Given the description of an element on the screen output the (x, y) to click on. 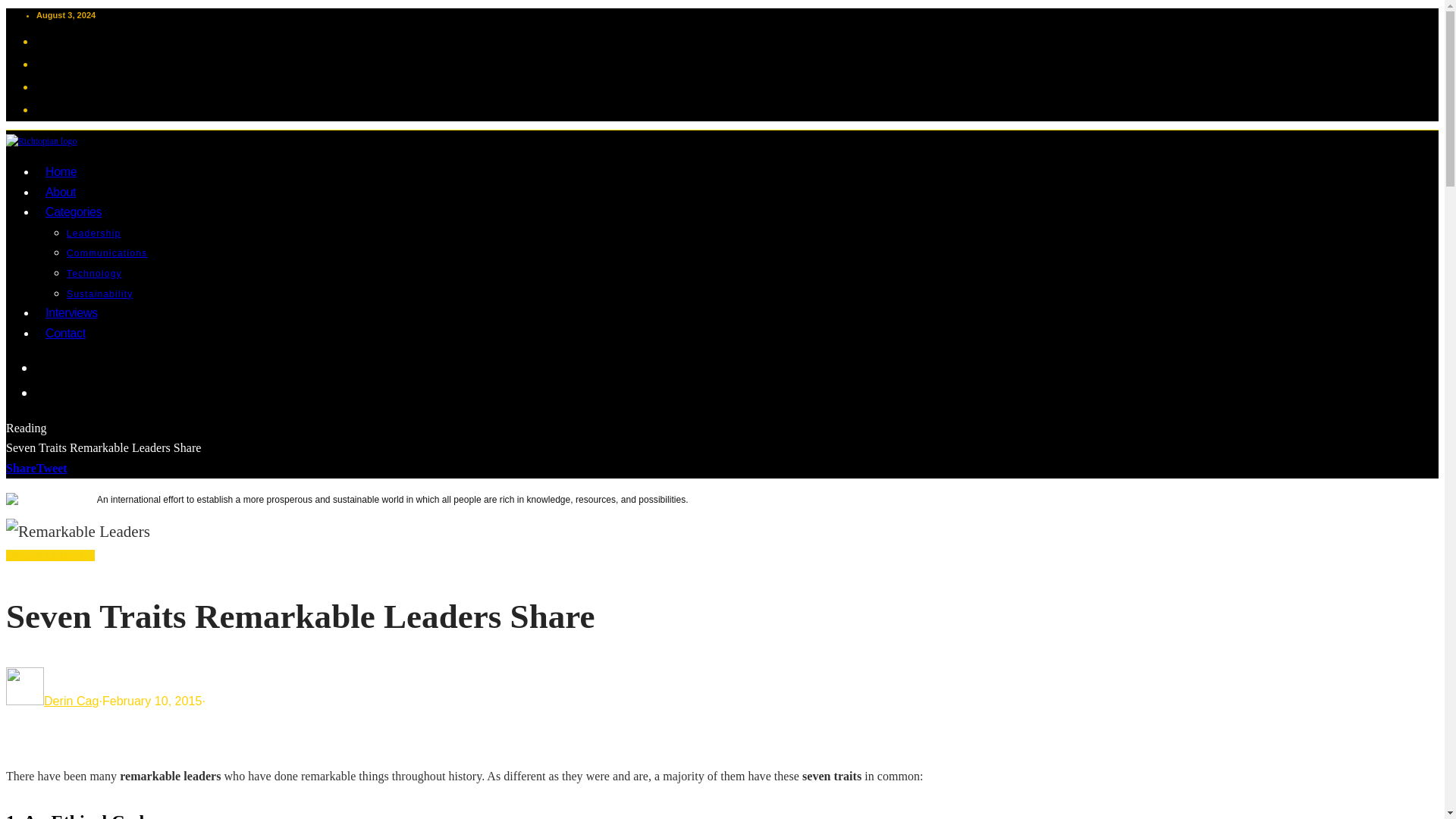
Interviews (71, 312)
Technology (94, 273)
Seven Traits Remarkable Leaders Share (77, 531)
Categories (73, 211)
Effective Leadership (49, 555)
Interviews (71, 312)
Home (60, 171)
About (60, 192)
Tweet (51, 468)
Derin Cag (71, 700)
